Given the description of an element on the screen output the (x, y) to click on. 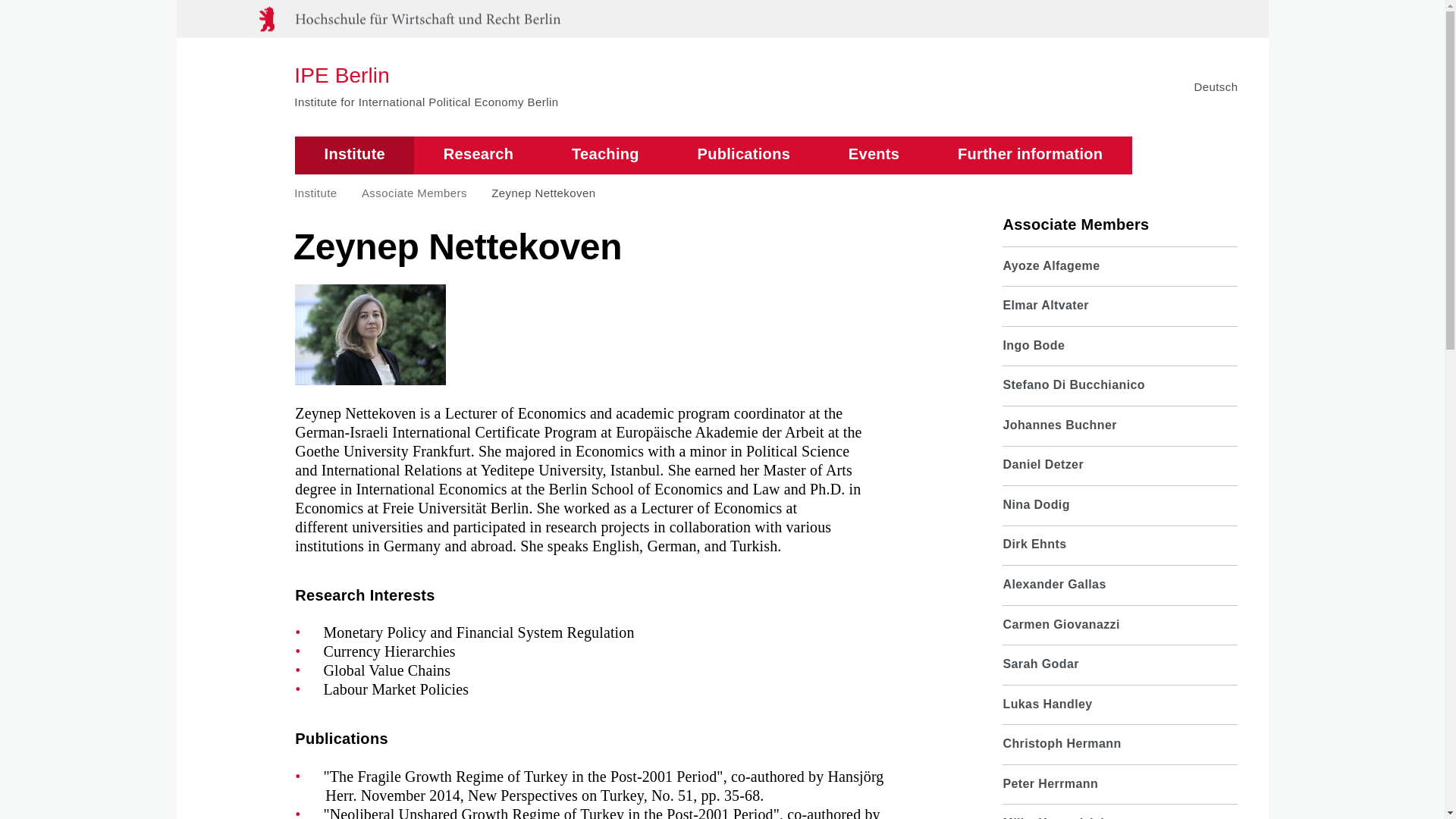
Deutsch (1215, 86)
IPE Berlin (425, 75)
